Given the description of an element on the screen output the (x, y) to click on. 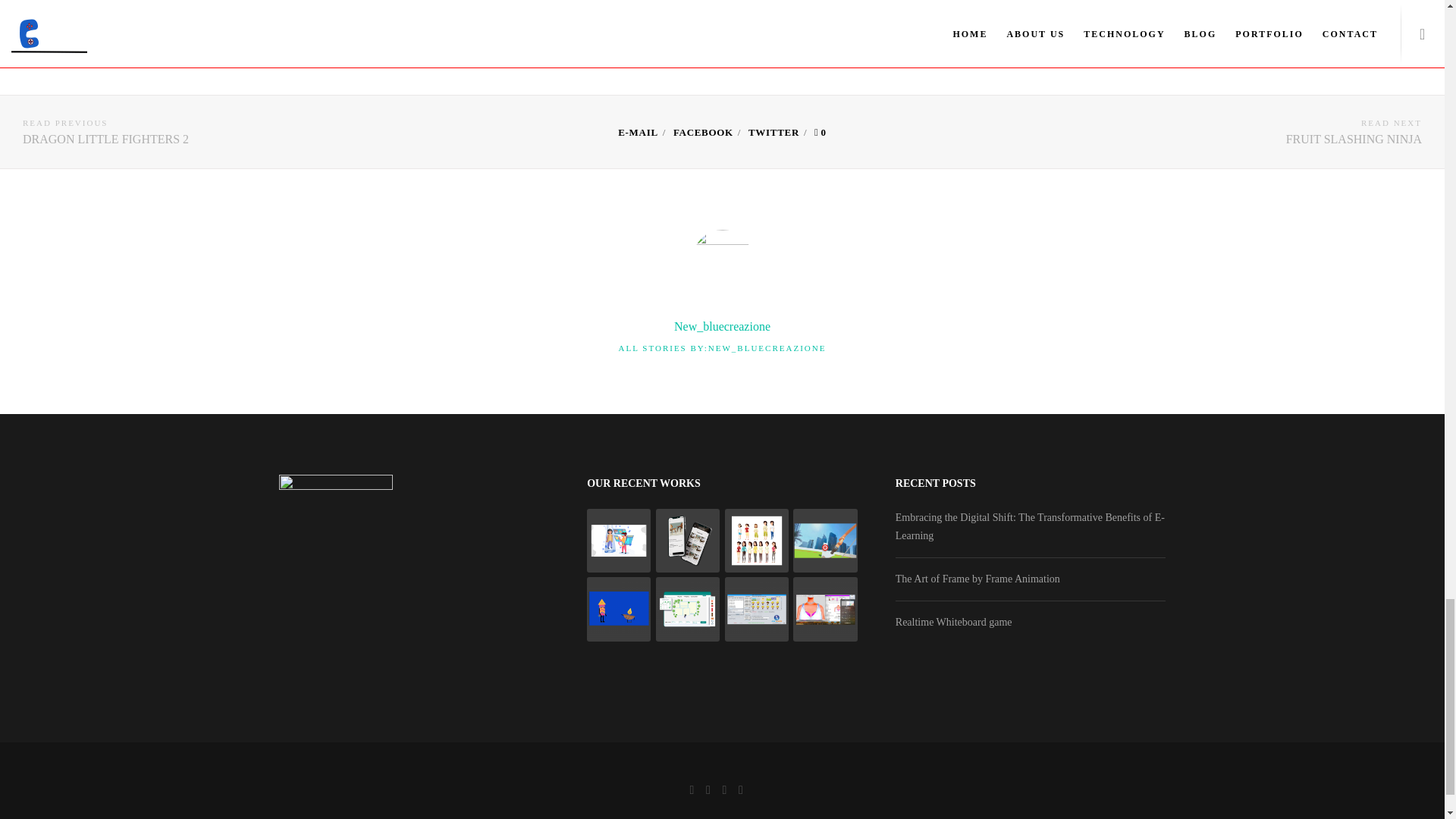
Dragon Kombat (702, 132)
UNITY 3D (722, 14)
FACEBOOK (702, 132)
0 (820, 132)
TWITTER (773, 132)
Dragon Kombat (773, 132)
E-MAIL (105, 131)
Dragon Kombat (637, 132)
